Given the description of an element on the screen output the (x, y) to click on. 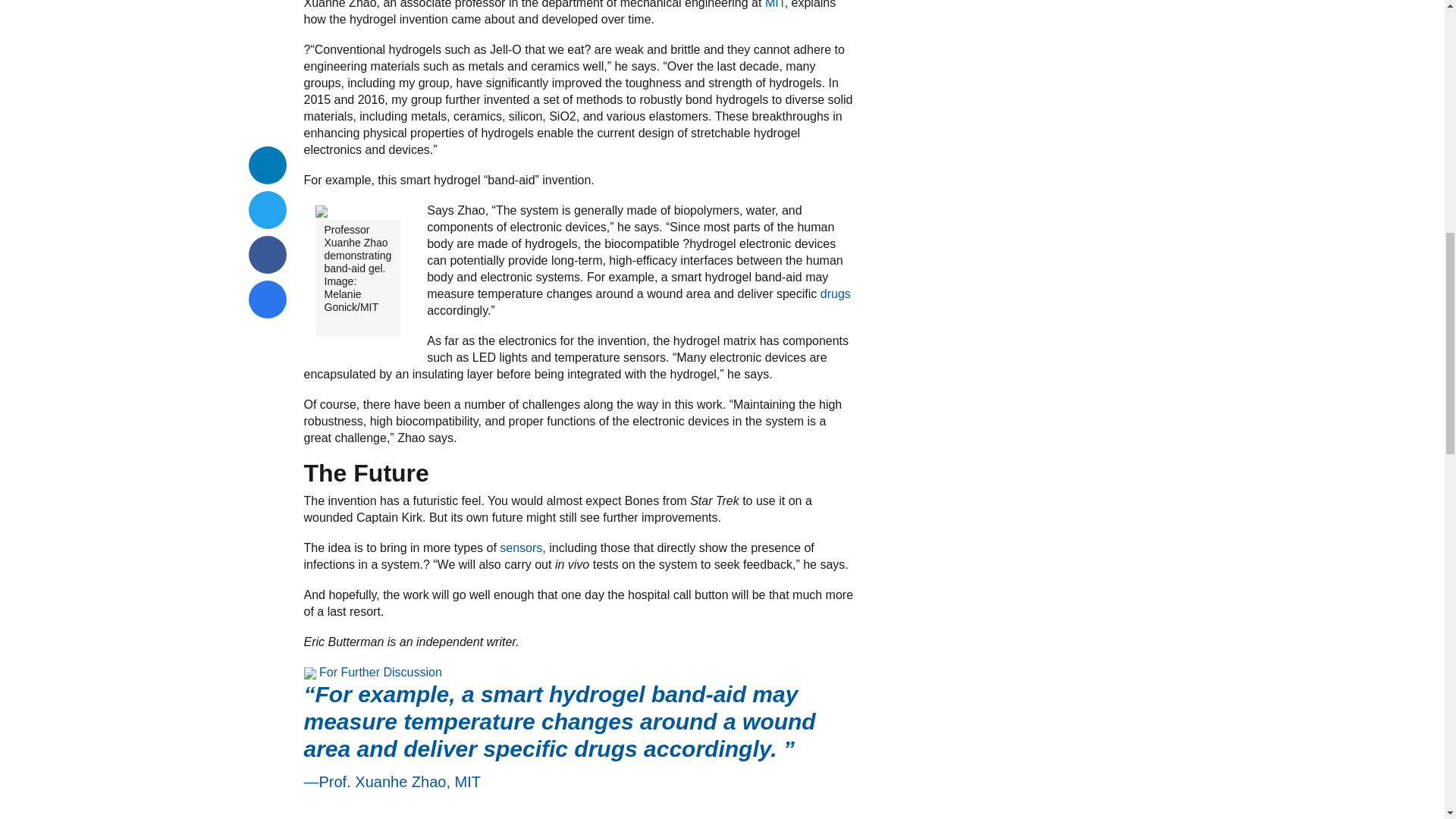
drugs (835, 293)
For Further Discussion (380, 671)
sensors (520, 547)
For Further Discussion (380, 671)
MIT (774, 4)
